Given the description of an element on the screen output the (x, y) to click on. 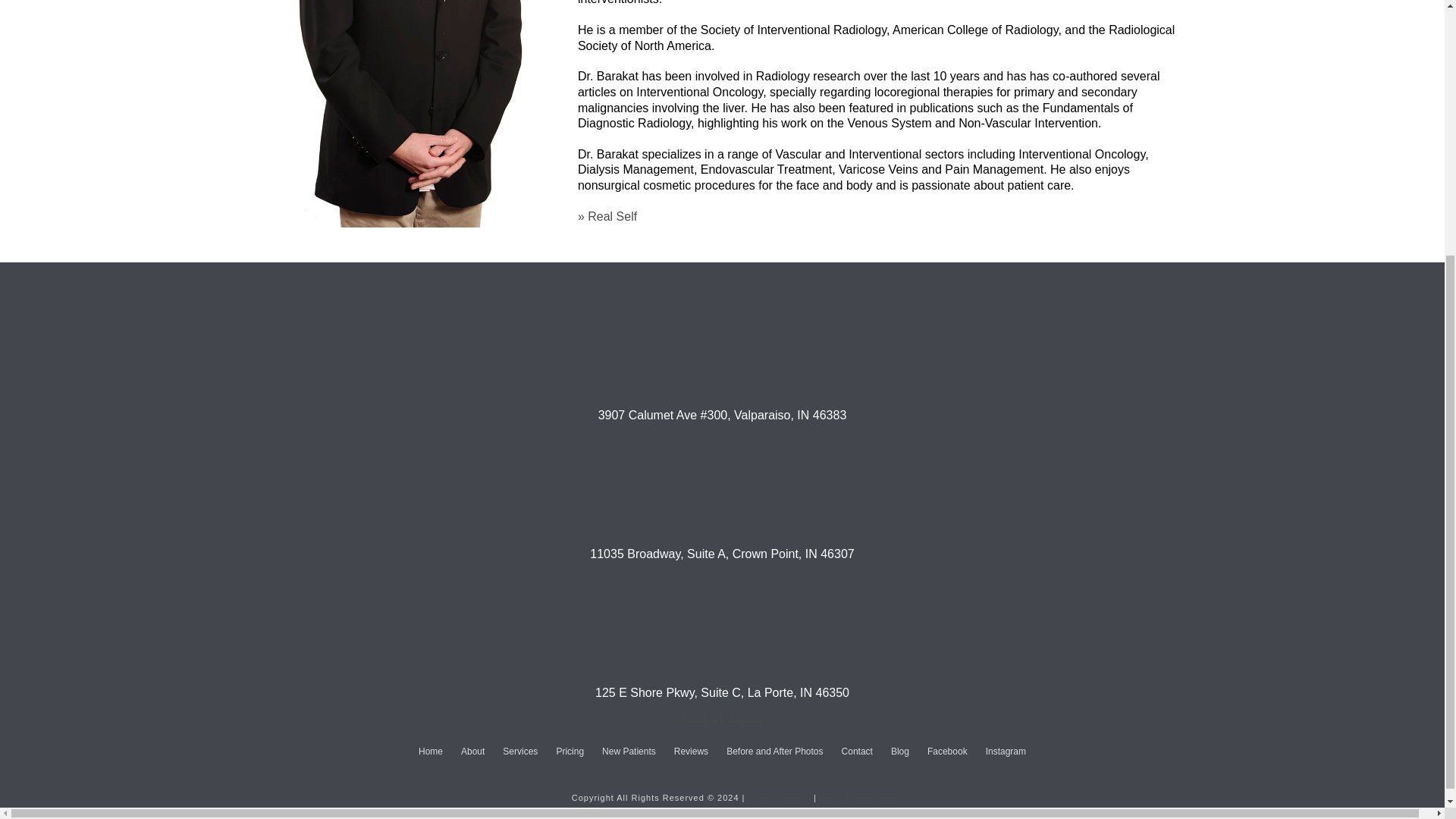
dr omar barakat (410, 113)
